Given the description of an element on the screen output the (x, y) to click on. 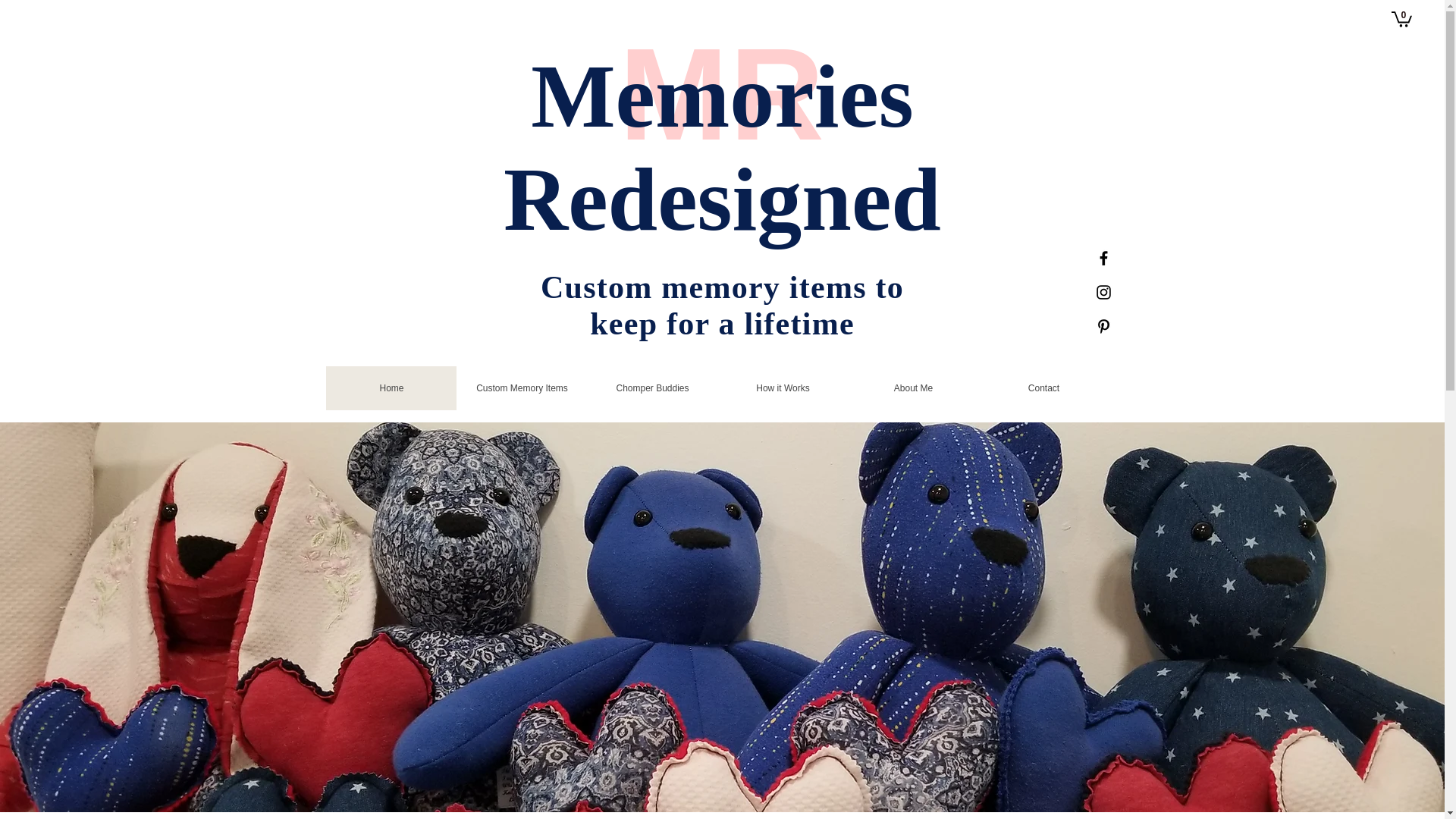
0 (1401, 18)
0 (1401, 18)
Chomper Buddies (651, 388)
How it Works (782, 388)
Home (391, 388)
Custom Memory Items (521, 388)
Contact (1043, 388)
About Me (912, 388)
